Given the description of an element on the screen output the (x, y) to click on. 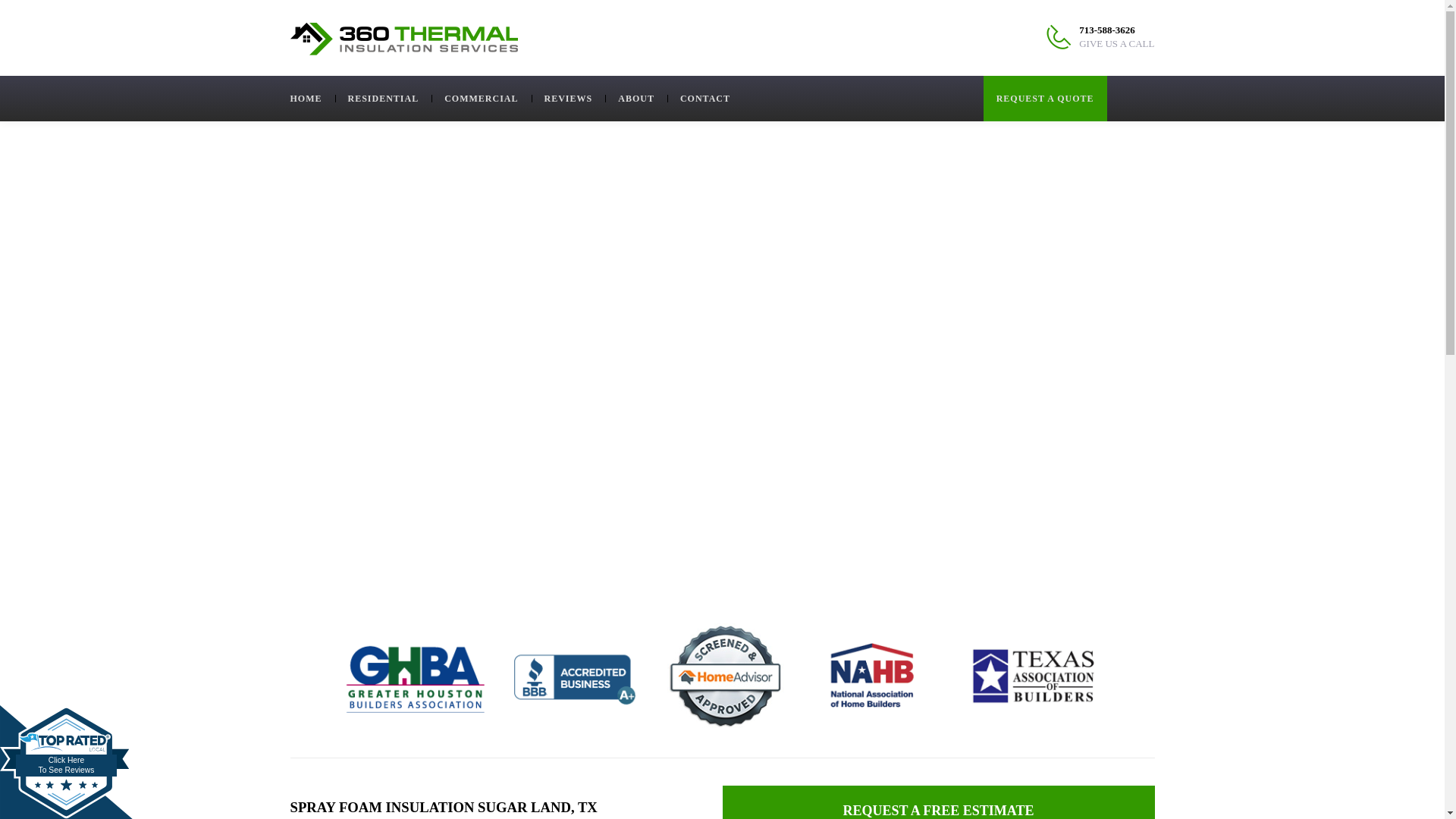
CONTACT (704, 98)
COMMERCIAL (480, 98)
HOME (66, 762)
Top Rated Spray Foam Insulation Contractor Houston, TX (311, 98)
RESIDENTIAL (721, 675)
REQUEST A QUOTE (383, 98)
ABOUT (1045, 98)
REVIEWS (66, 762)
